Given the description of an element on the screen output the (x, y) to click on. 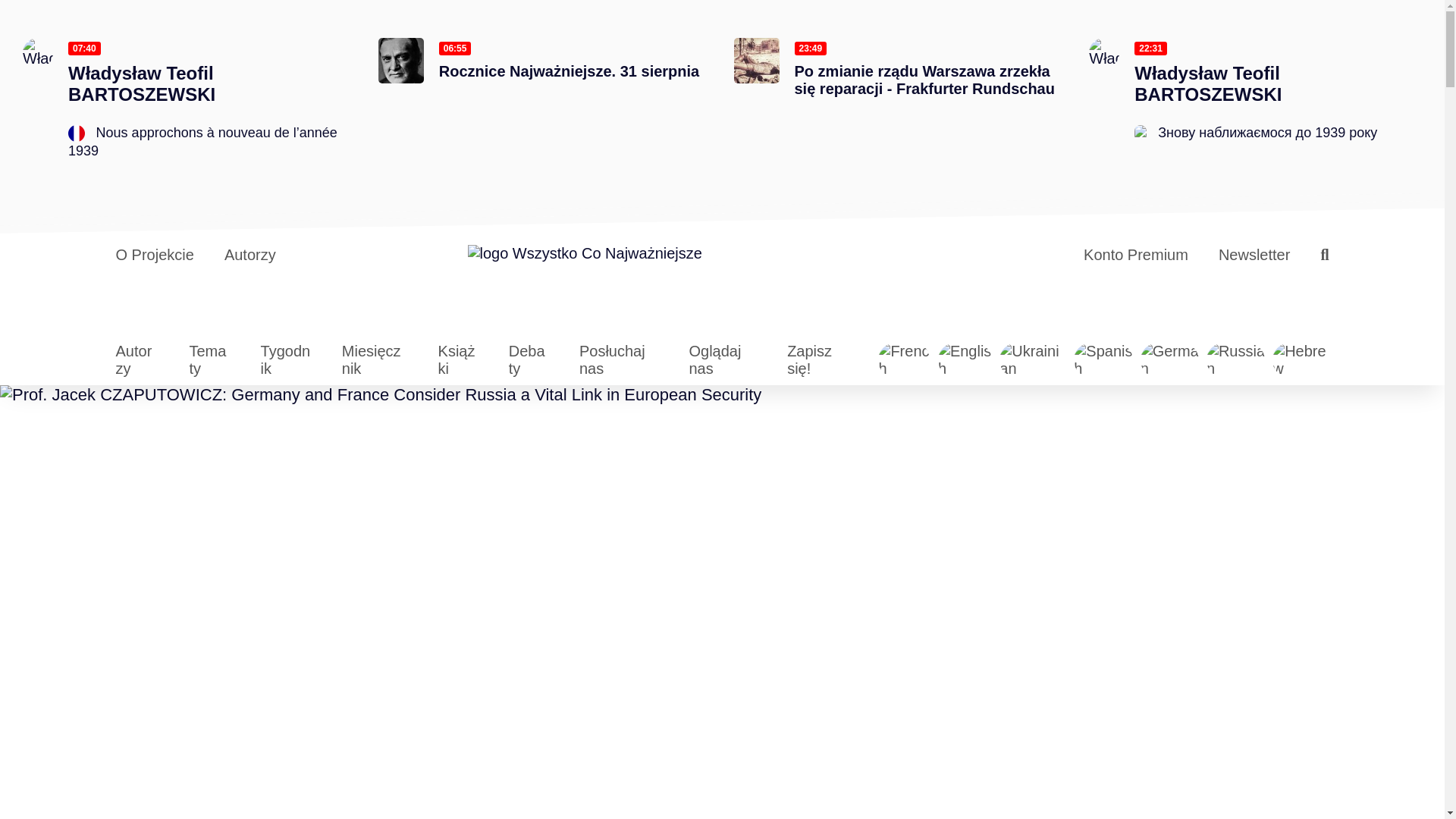
Konto Premium (1135, 254)
O Projekcie (154, 254)
Newsletter (1254, 254)
Autorzy (133, 359)
Autorzy (250, 254)
Tematy (207, 359)
